Given the description of an element on the screen output the (x, y) to click on. 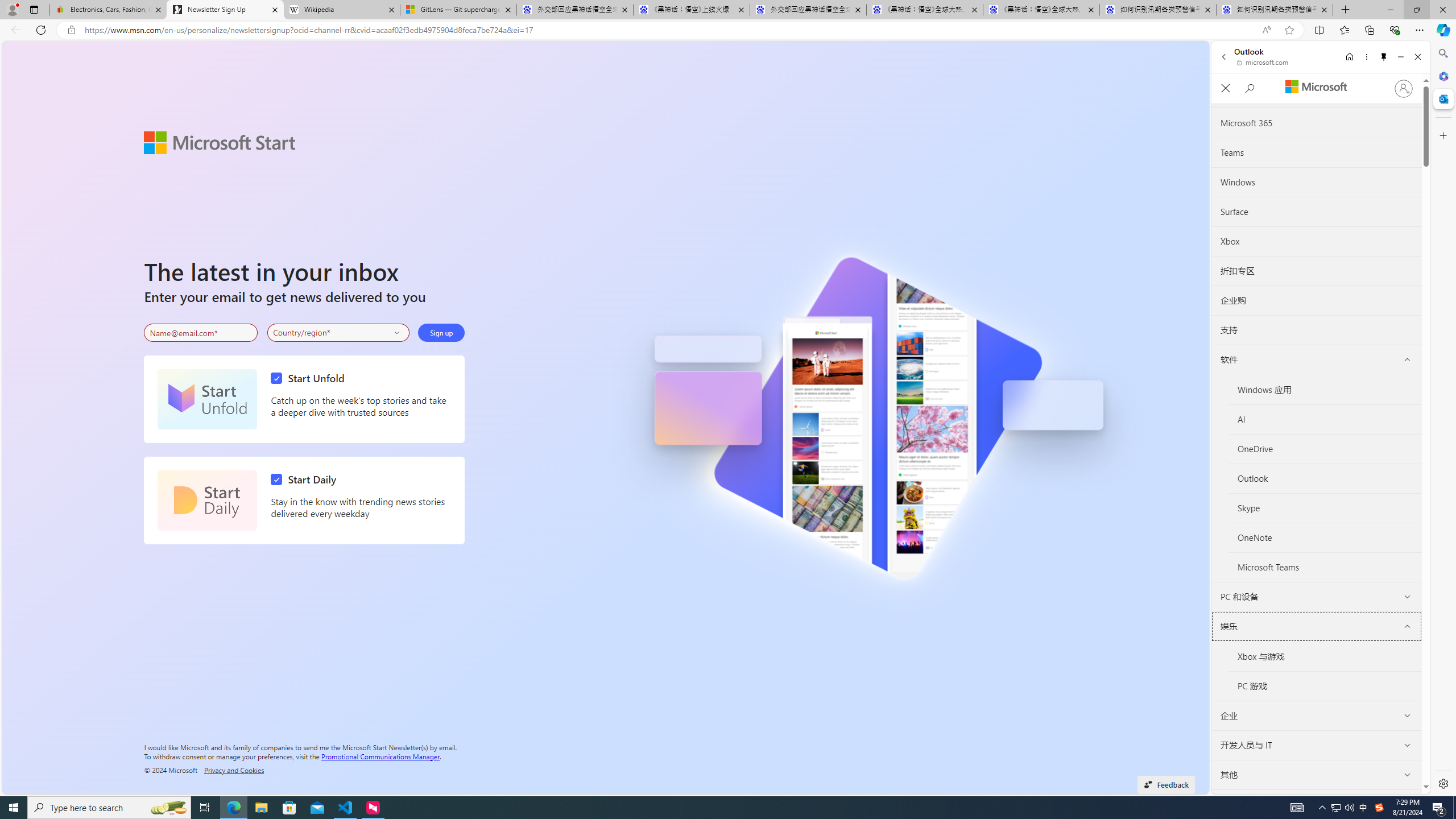
Windows (1316, 182)
Wikipedia (341, 9)
OneDrive (1325, 449)
Xbox (1316, 241)
Start Unfold (207, 399)
Skype (1324, 507)
